Given the description of an element on the screen output the (x, y) to click on. 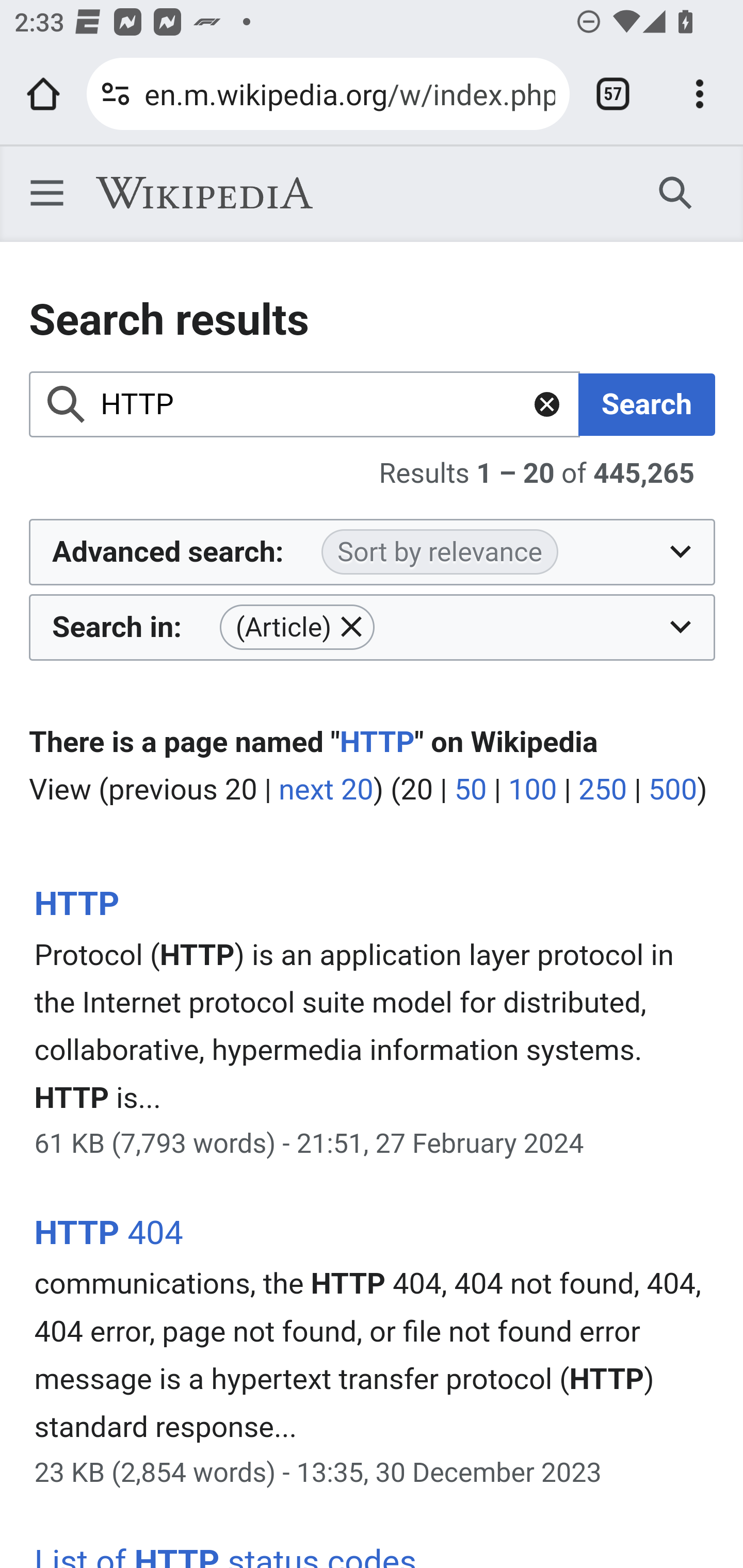
Open the home page (43, 93)
Connection is secure (115, 93)
Switch or close tabs (612, 93)
Customize and control Google Chrome (699, 93)
Search (676, 192)
Wikipedia (203, 192)
HTTP (304, 404)
Search (647, 404)
Advanced search: Sort by relevance (372, 551)
Search in: (Article) Remove (372, 626)
HTTP (377, 742)
next 20 (325, 791)
50 (470, 791)
100 (532, 791)
250 (603, 791)
500 (672, 791)
HTTP (76, 903)
HTTP 404 HTTP  404 (108, 1232)
